Given the description of an element on the screen output the (x, y) to click on. 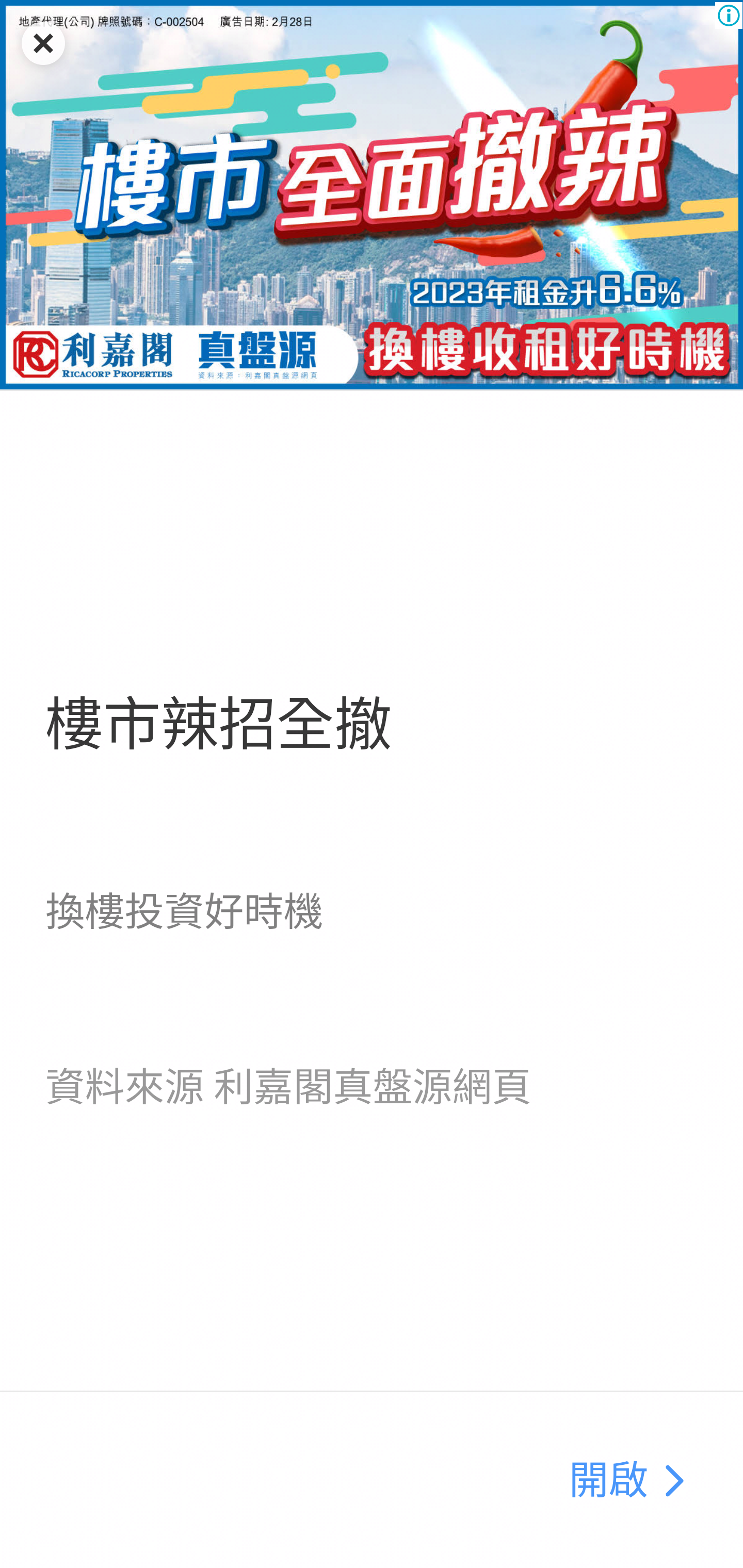
B31476451 (371, 195)
樓市辣招全撤 (218, 724)
換樓投資好時機 (184, 911)
資料來源 利嘉閣真盤源網頁 (287, 1087)
B31476451 (673, 1480)
開啟 (608, 1480)
